Given the description of an element on the screen output the (x, y) to click on. 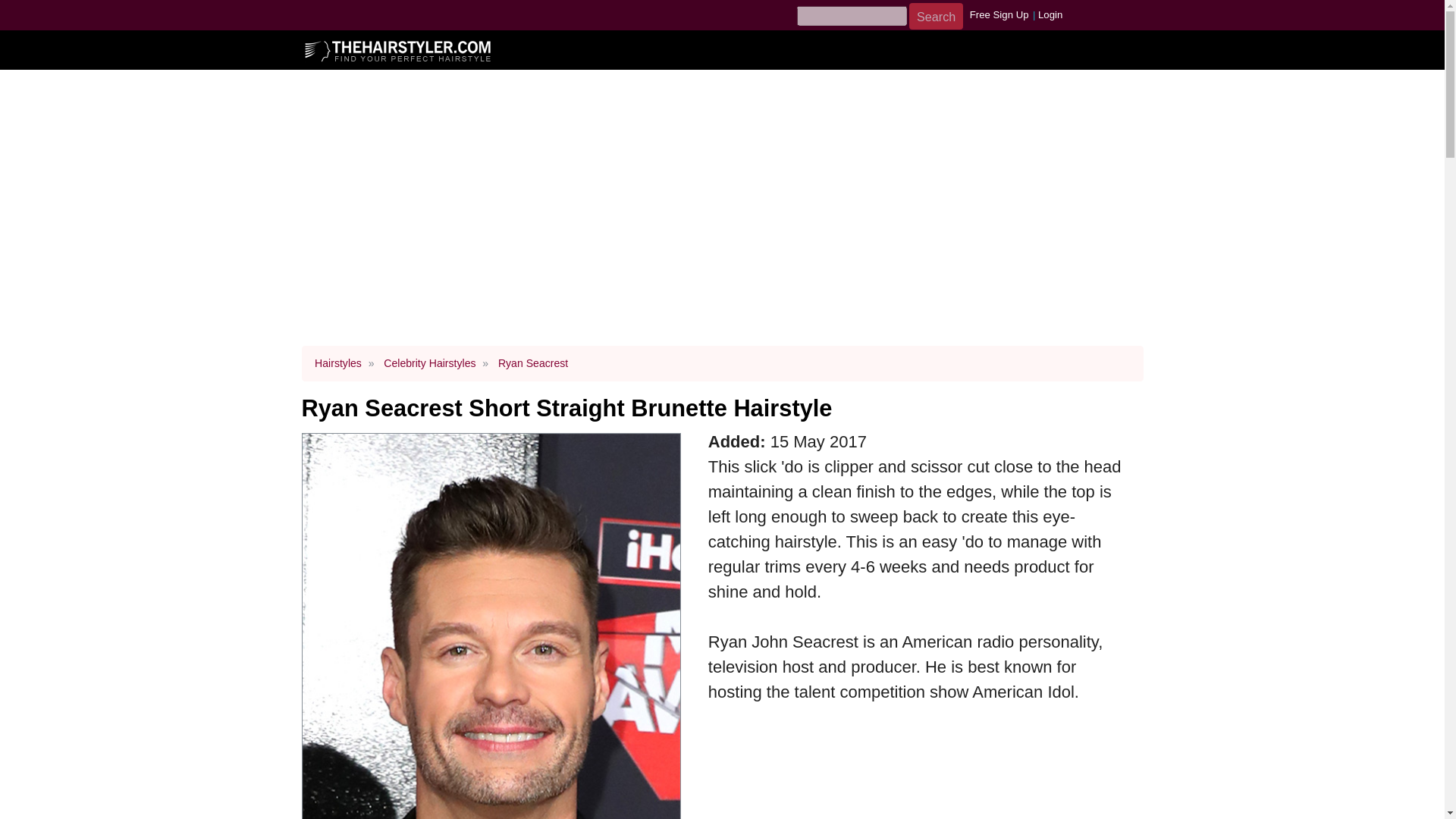
HAIR CONSULTATIONS (728, 76)
VIRTUAL HAIRSTYLER (454, 76)
Search (935, 16)
Search (935, 16)
Login (1051, 14)
Free Sign Up (999, 14)
HAIR STYLE IDEAS (888, 76)
HAIRSTYLES (588, 76)
